Given the description of an element on the screen output the (x, y) to click on. 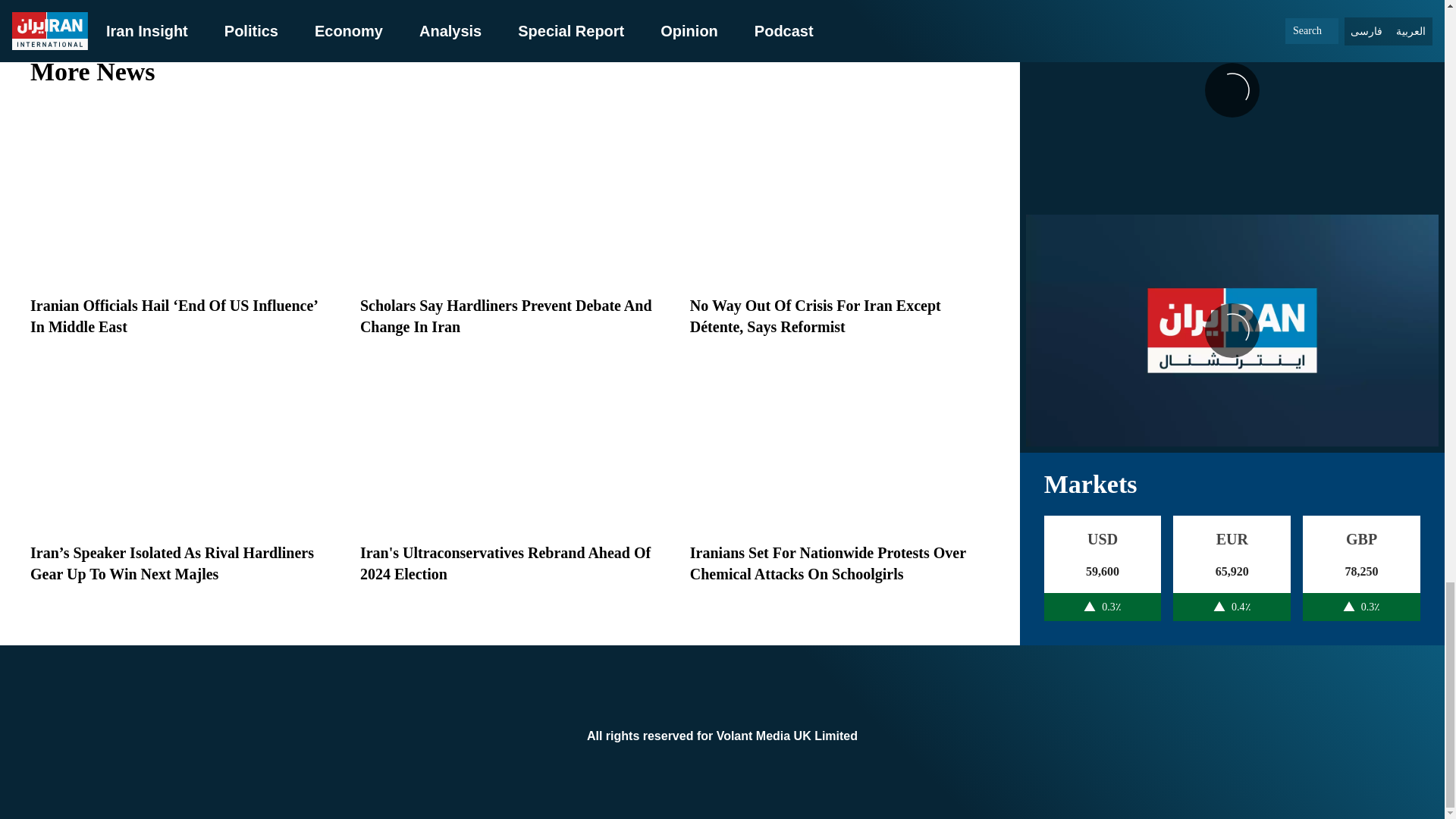
Iran's Ultraconservatives Rebrand Ahead Of 2024 Election (504, 563)
Scholars Say Hardliners Prevent Debate And Change In Iran (505, 315)
More News (510, 72)
